Given the description of an element on the screen output the (x, y) to click on. 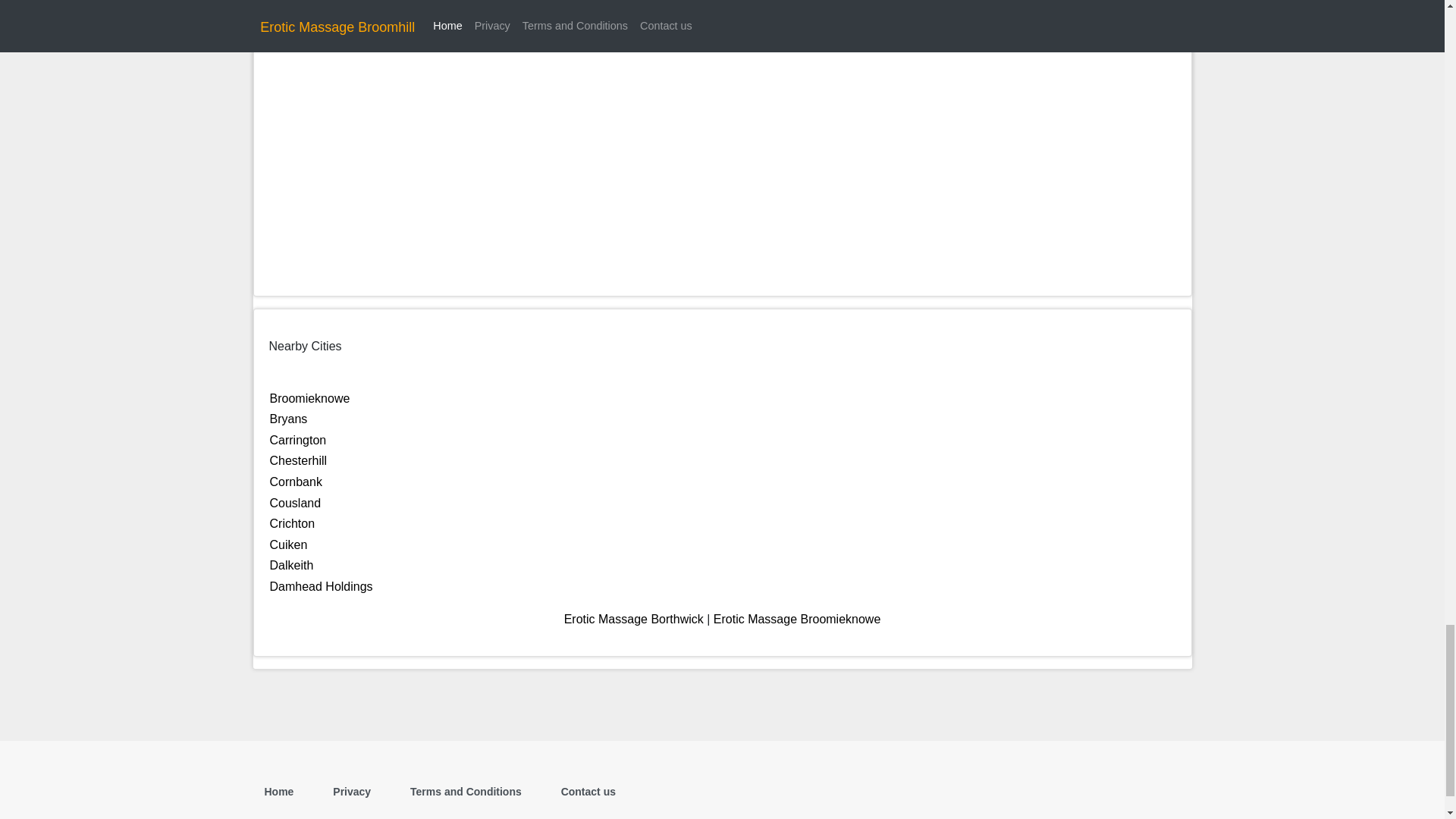
Crichton (292, 522)
Cousland (295, 502)
Cornbank (295, 481)
Damhead Holdings (320, 585)
Broomieknowe (309, 398)
Bryans (288, 418)
Dalkeith (291, 564)
Erotic Massage Borthwick (633, 618)
Erotic Massage Broomieknowe (796, 618)
Chesterhill (298, 460)
Cuiken (288, 544)
Carrington (297, 440)
